Given the description of an element on the screen output the (x, y) to click on. 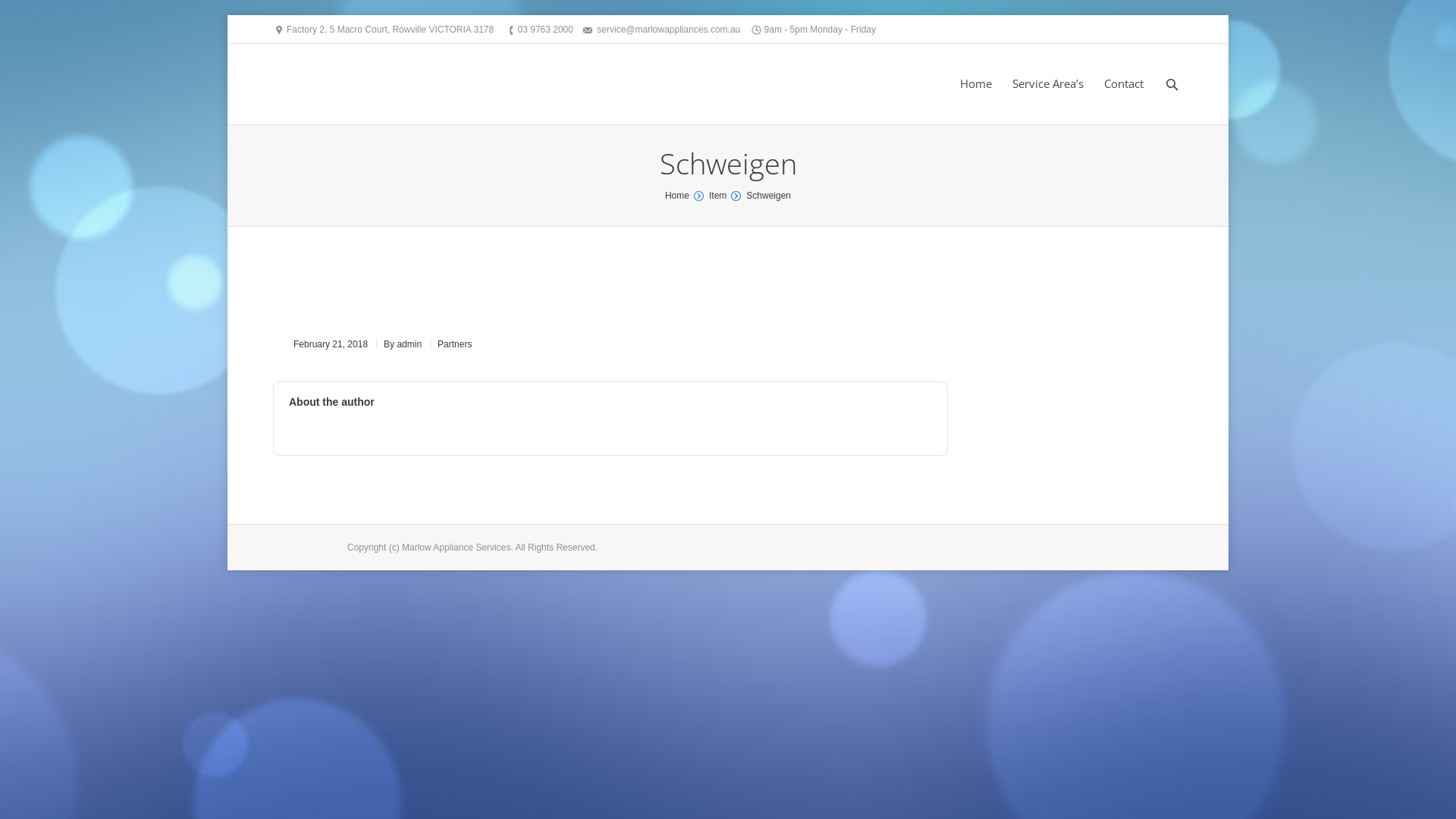
Contact Element type: text (1123, 84)
Home Element type: text (677, 195)
By admin Element type: text (398, 343)
Home Element type: text (975, 84)
Partners Element type: text (450, 343)
service@marlowappliances.com.au Element type: text (668, 29)
Go! Element type: text (15, 12)
Item Element type: text (717, 195)
February 21, 2018 Element type: text (330, 343)
Factory 2, 5 Macro Court, Rowville VICTORIA 3178 Element type: text (389, 29)
03 9763 2000 Element type: text (545, 29)
Schweigen Element type: hover (375, 292)
